Given the description of an element on the screen output the (x, y) to click on. 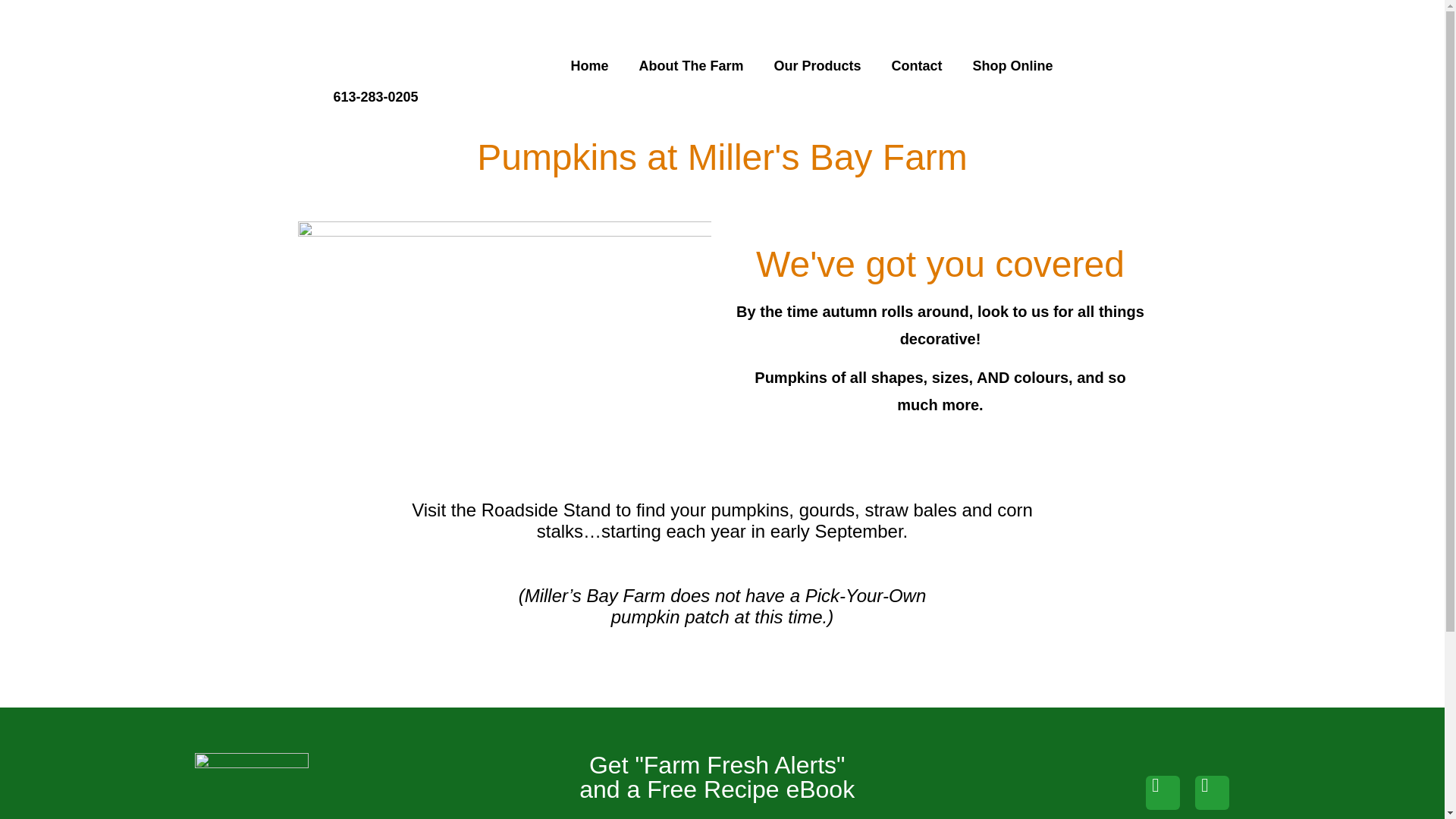
Contact (917, 65)
Home (590, 65)
About The Farm (691, 65)
Our Products (817, 65)
Shop Online (1013, 65)
